Given the description of an element on the screen output the (x, y) to click on. 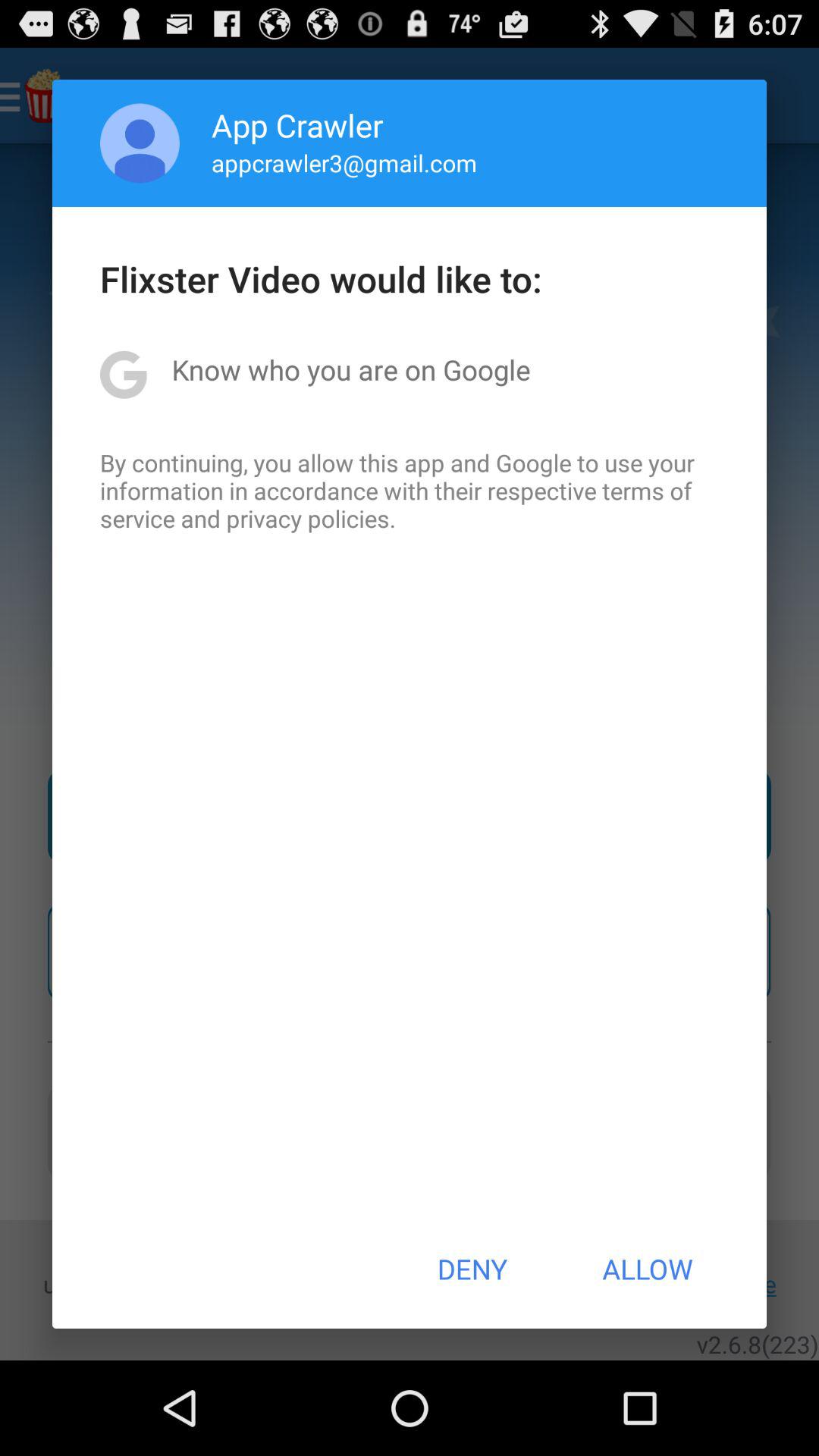
tap the app crawler (297, 124)
